Given the description of an element on the screen output the (x, y) to click on. 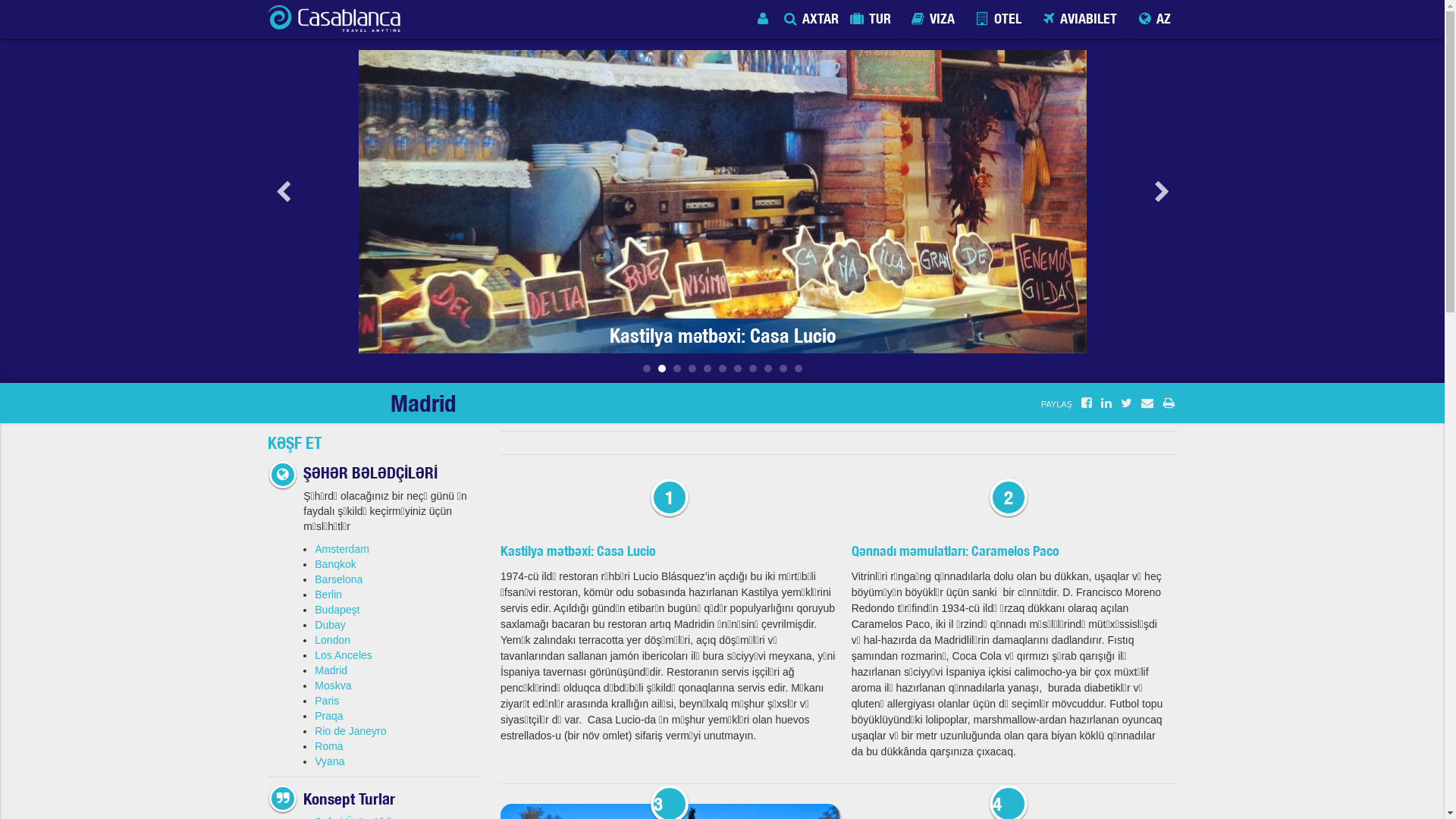
YAZDIR Element type: hover (1168, 402)
Amsterdam Element type: text (341, 548)
AZ Element type: text (1154, 18)
Roma Element type: text (328, 746)
OTEL Element type: text (999, 18)
TUR Element type: text (871, 18)
AVIABILET Element type: text (1080, 18)
Berlin Element type: text (328, 594)
VIZA Element type: text (934, 18)
Los Anceles Element type: text (343, 655)
Madrid Element type: text (330, 670)
AXTAR Element type: text (812, 18)
Barselona Element type: text (338, 579)
Rio de Janeyro Element type: text (349, 730)
London Element type: text (332, 639)
Paris Element type: text (326, 700)
Vyana Element type: text (329, 761)
Dubay Element type: text (329, 624)
Praqa Element type: text (328, 715)
Banqkok Element type: text (334, 564)
Moskva Element type: text (332, 685)
